Given the description of an element on the screen output the (x, y) to click on. 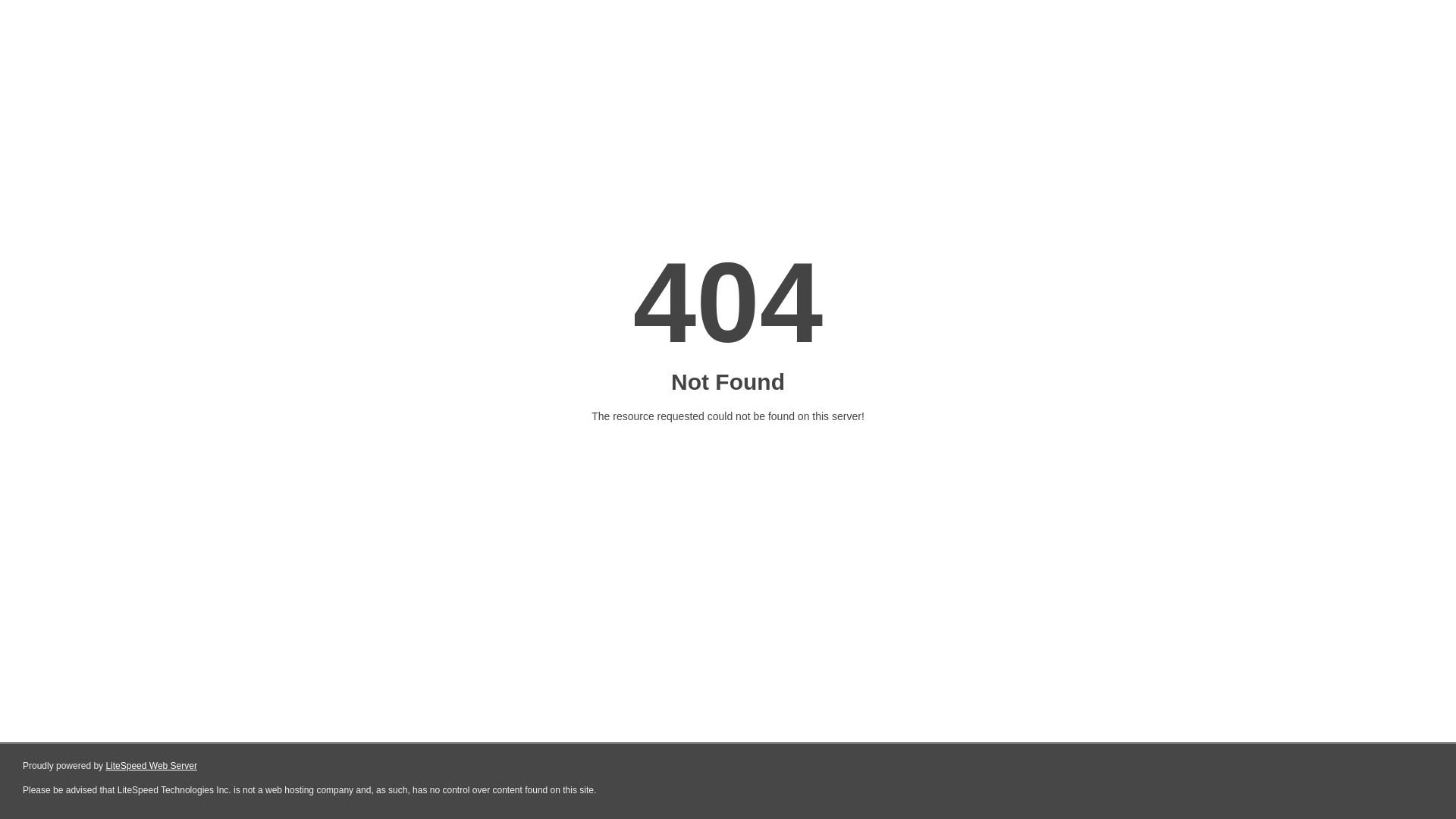
LiteSpeed Web Server Element type: text (151, 765)
